Given the description of an element on the screen output the (x, y) to click on. 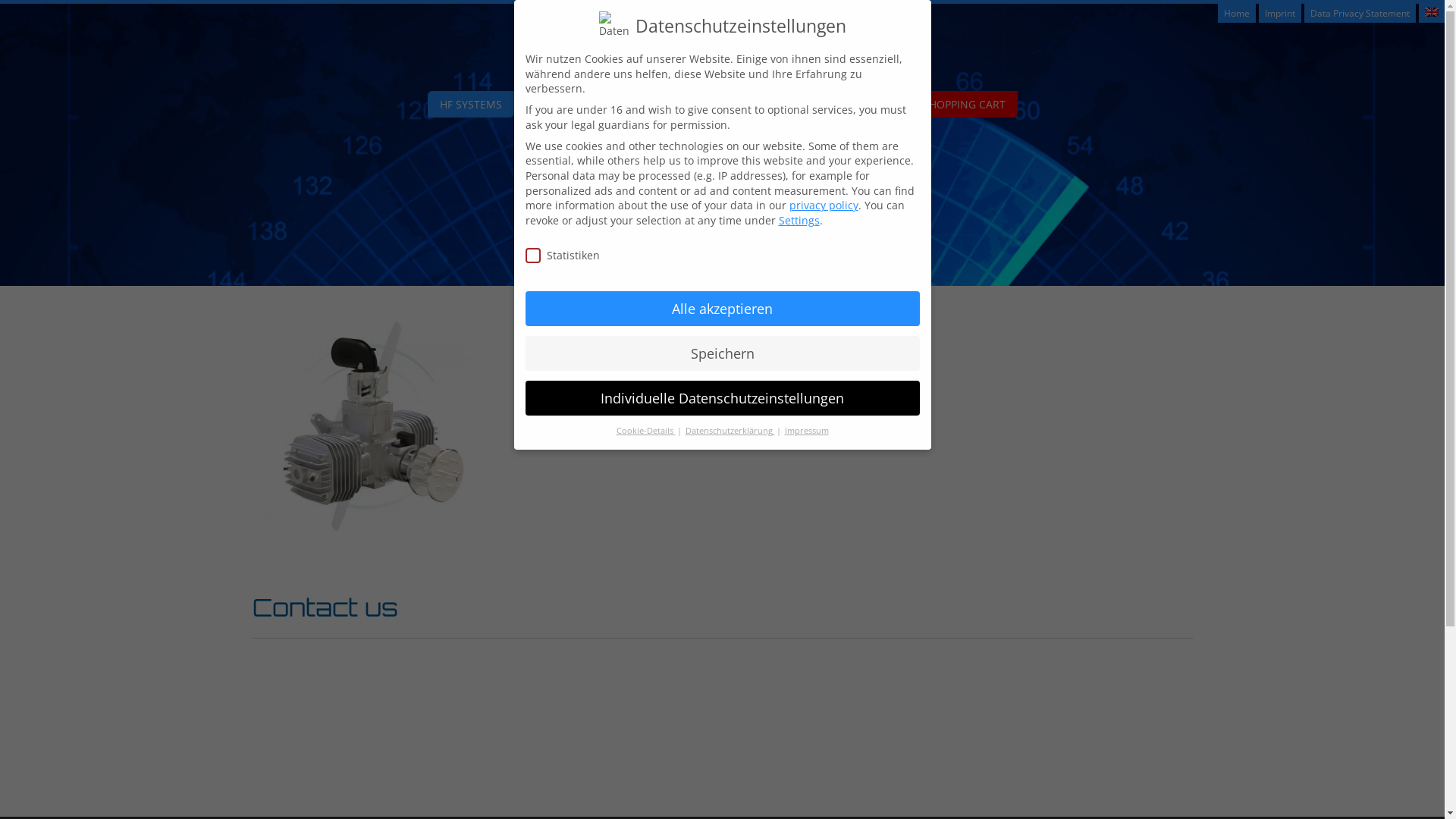
privacy policy Element type: text (822, 204)
Home Element type: text (1236, 12)
3W MEDIA Element type: text (809, 104)
HF SYSTEMS Element type: text (470, 104)
Individuelle Datenschutzeinstellungen Element type: text (721, 397)
ENGINES Element type: text (652, 104)
SHOPPING CART Element type: text (963, 104)
Imprint Element type: text (1279, 12)
Impressum Element type: text (806, 430)
Data Privacy Statement Element type: text (1359, 12)
ABOUT US Element type: text (729, 104)
Speichern Element type: text (721, 352)
SHOP Element type: text (879, 104)
Settings Element type: text (798, 220)
Alle akzeptieren Element type: text (721, 308)
Cookie-Details Element type: text (644, 430)
GAS SYSTEMS Element type: text (565, 104)
